Given the description of an element on the screen output the (x, y) to click on. 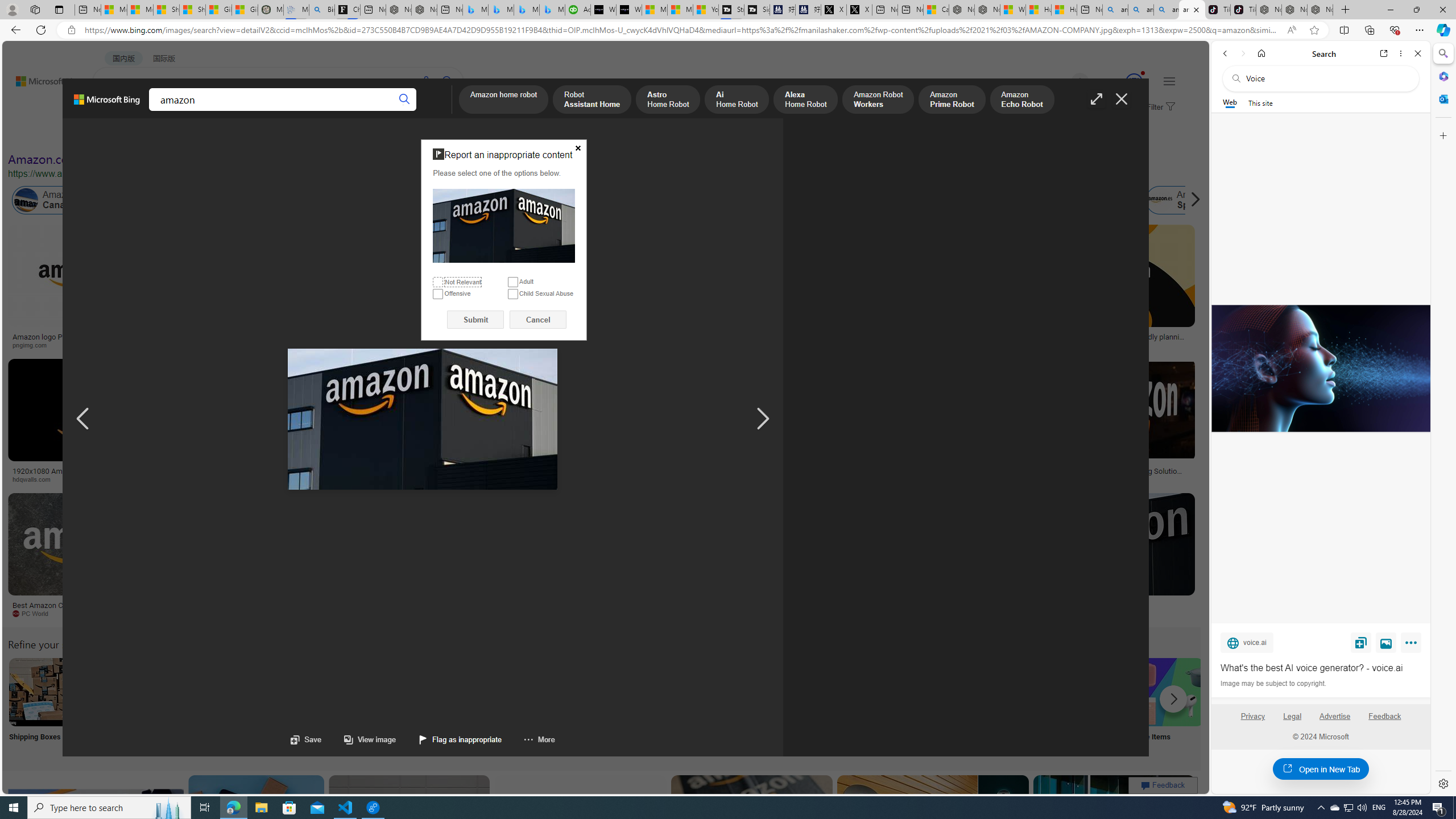
Amazon Retail Store Retail Store (493, 706)
Customize (1442, 135)
Web scope (1230, 102)
manilashaker.com (660, 612)
usatoday.com (403, 344)
Amazon Logo Png Hd Wallpaper | Images and Photos finder (559, 340)
Nordace Siena Pro 15 Backpack (1293, 9)
Amazon Shoes (1079, 200)
Listen: What's next for Amazon? (363, 336)
Layout (253, 135)
